Given the description of an element on the screen output the (x, y) to click on. 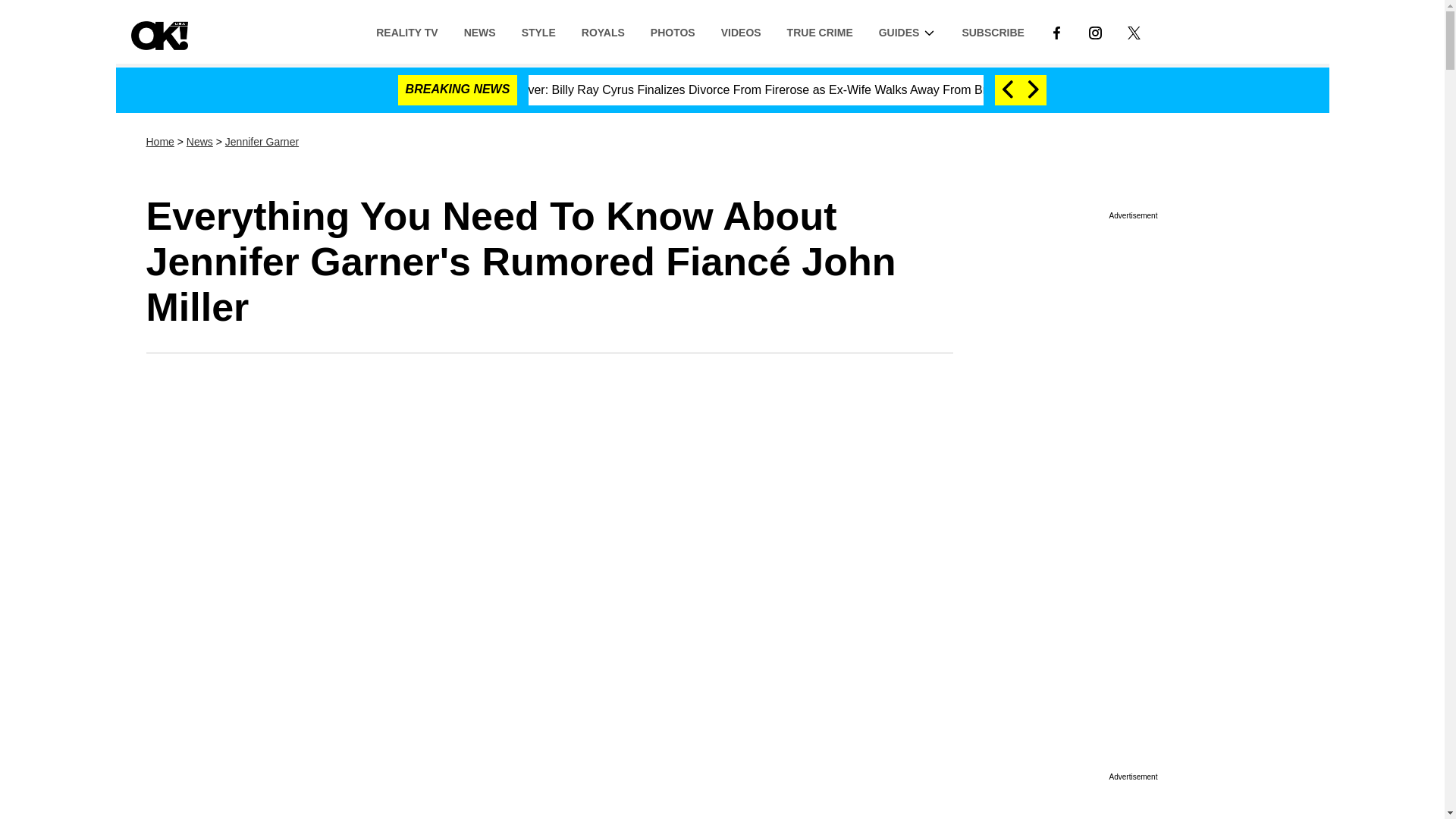
REALITY TV (405, 31)
PHOTOS (672, 31)
VIDEOS (740, 31)
News (199, 141)
NEWS (479, 31)
STYLE (538, 31)
Jennifer Garner (261, 141)
Link to Facebook (1055, 31)
Link to Instagram (1095, 31)
LINK TO FACEBOOK (1055, 31)
LINK TO INSTAGRAM (1095, 32)
Link to X (1134, 31)
Home (159, 141)
TRUE CRIME (820, 31)
SUBSCRIBE (992, 31)
